Given the description of an element on the screen output the (x, y) to click on. 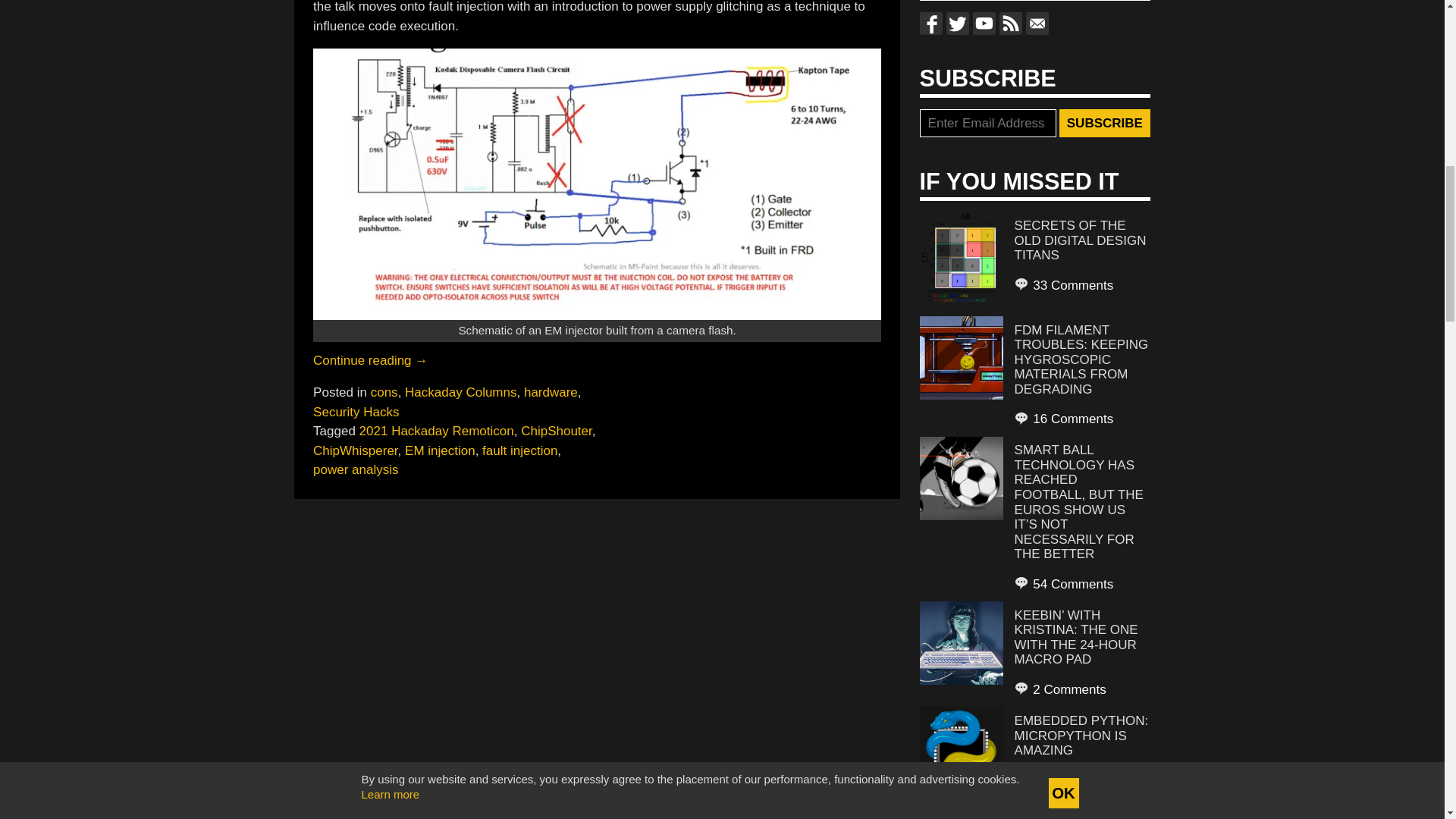
Subscribe (1104, 123)
cons (384, 391)
ChipWhisperer (355, 450)
fault injection (519, 450)
hardware (551, 391)
Security Hacks (355, 411)
power analysis (355, 469)
ChipShouter (556, 431)
EM injection (440, 450)
Hackaday Columns (460, 391)
2021 Hackaday Remoticon (436, 431)
